Given the description of an element on the screen output the (x, y) to click on. 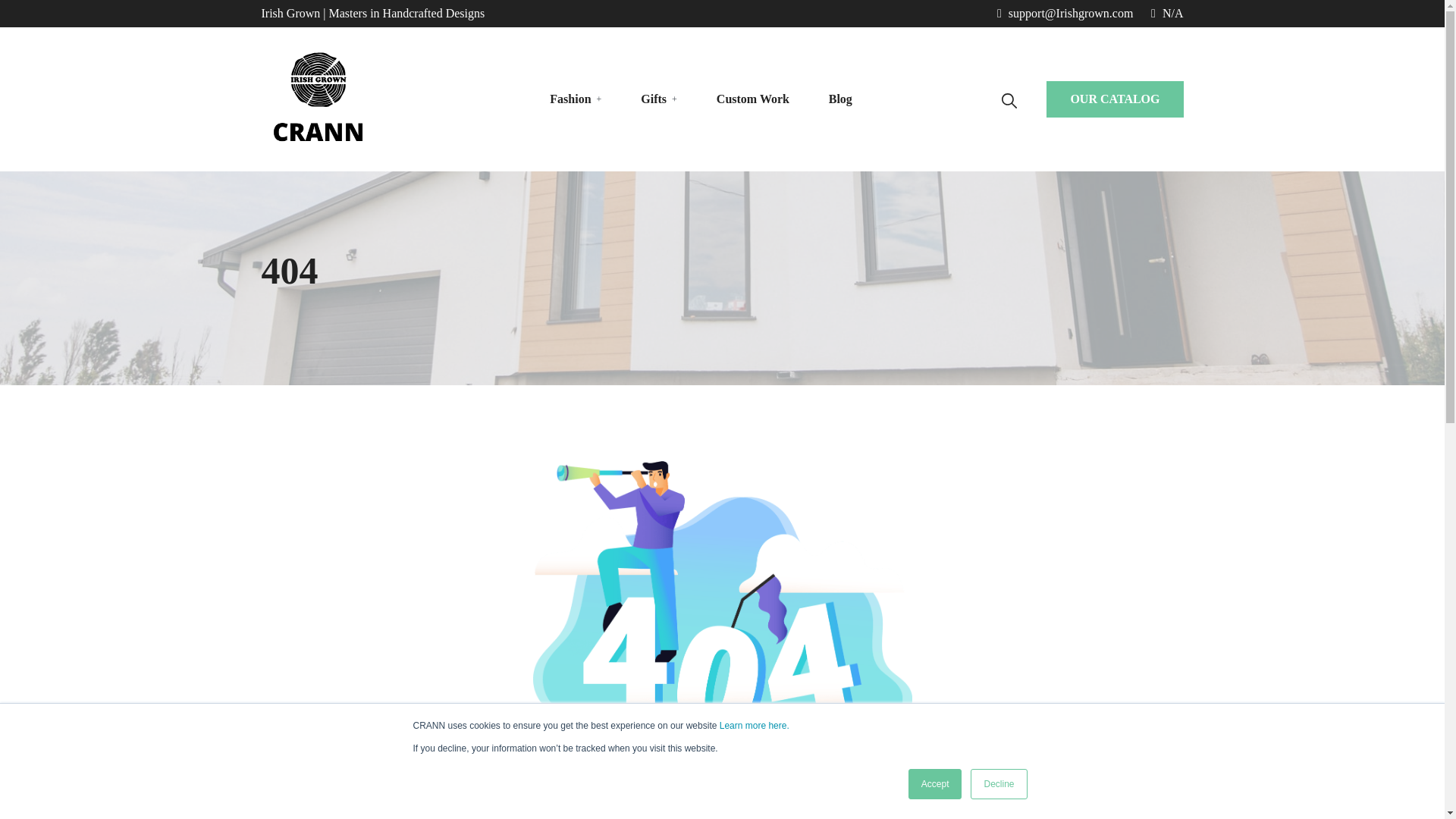
Fashion (570, 99)
Custom Work (752, 99)
Decline (998, 784)
Gifts (653, 99)
Blog (839, 99)
OUR CATALOG (1114, 99)
Accept (935, 784)
Learn more here. (754, 725)
